Given the description of an element on the screen output the (x, y) to click on. 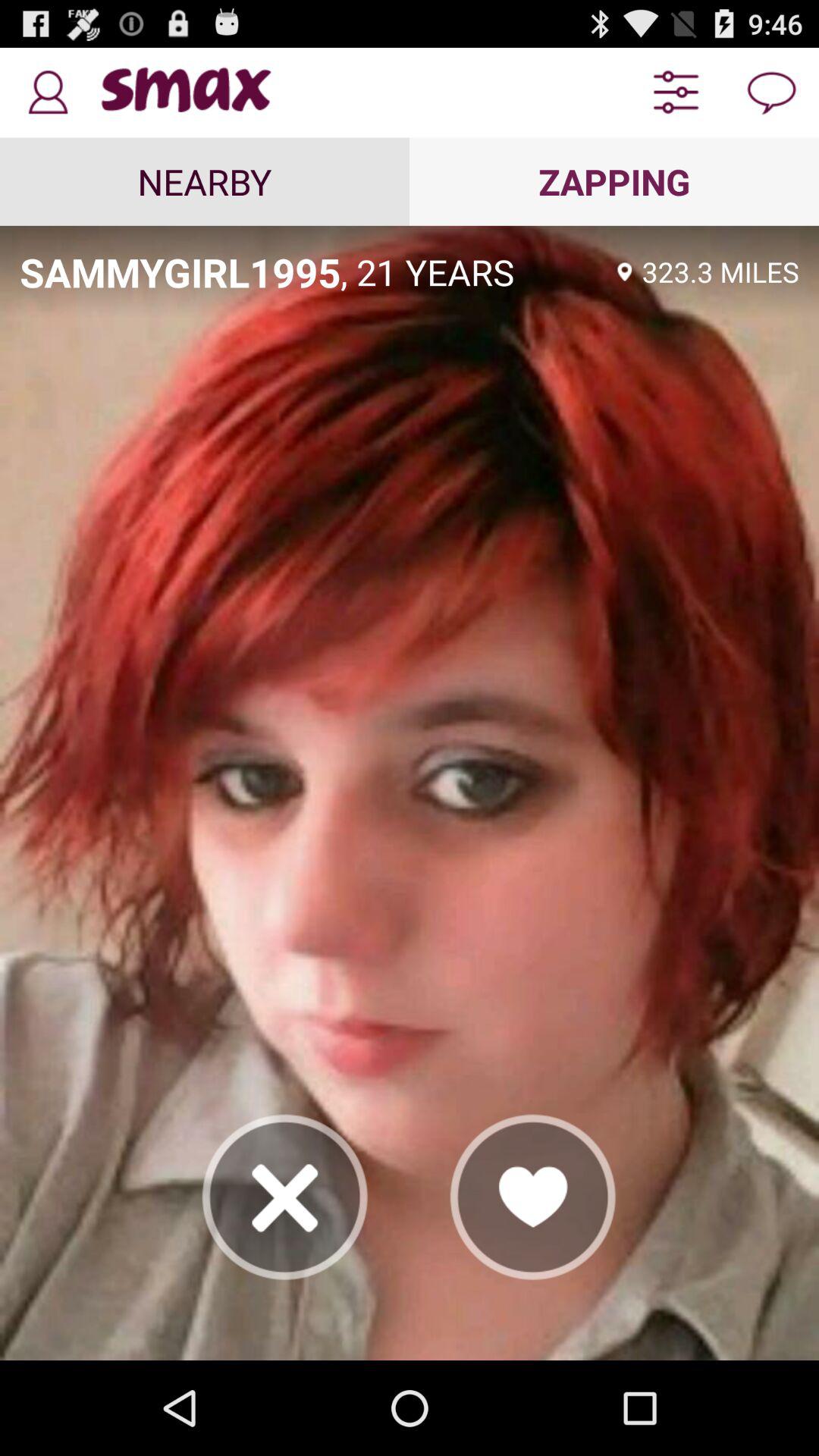
press icon next to the sammygirl1995 (473, 271)
